Given the description of an element on the screen output the (x, y) to click on. 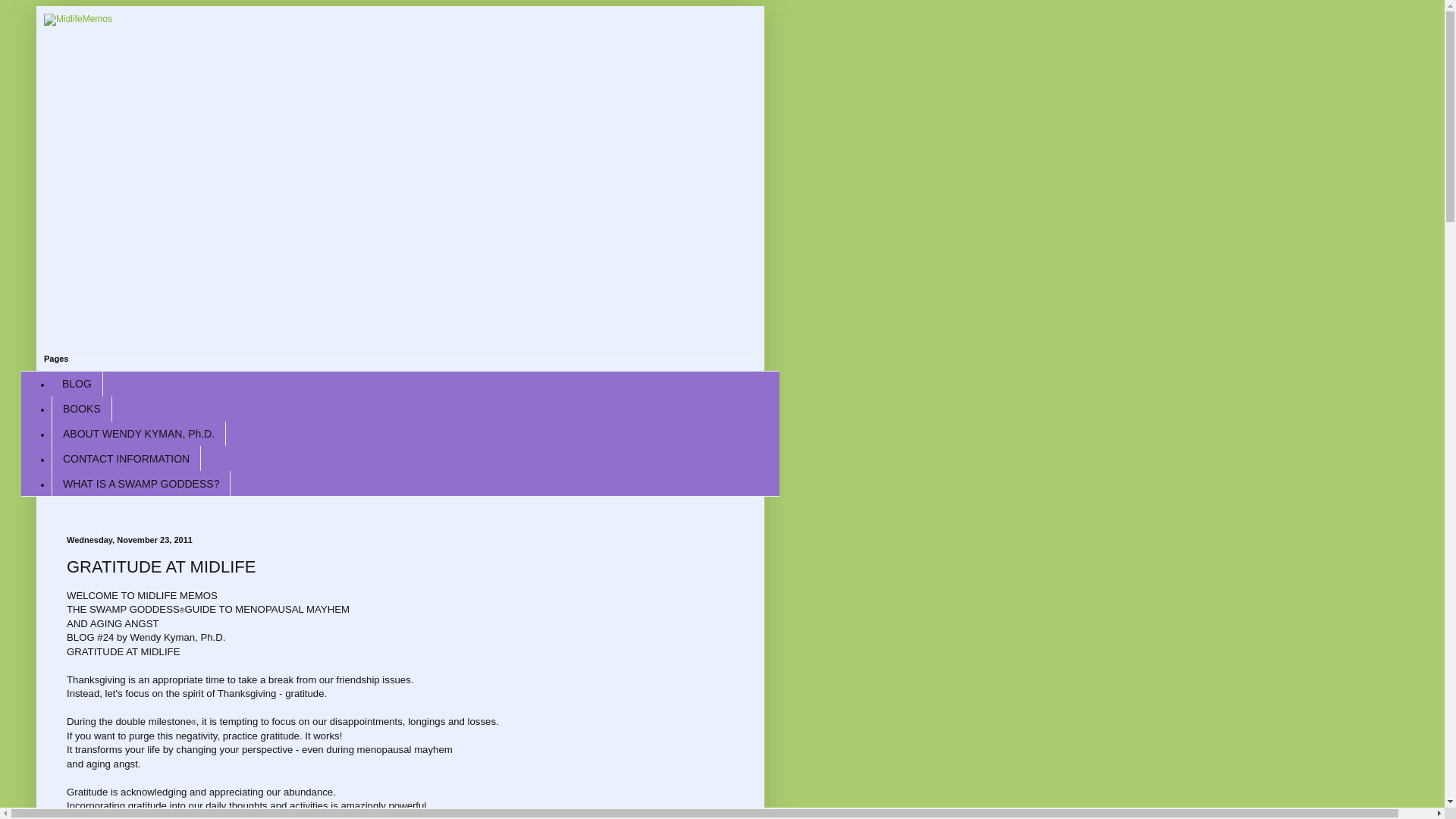
ABOUT WENDY KYMAN, Ph.D. (137, 433)
WHAT IS A SWAMP GODDESS? (140, 483)
BOOKS (81, 408)
CONTACT INFORMATION (125, 457)
BLOG (76, 383)
